Given the description of an element on the screen output the (x, y) to click on. 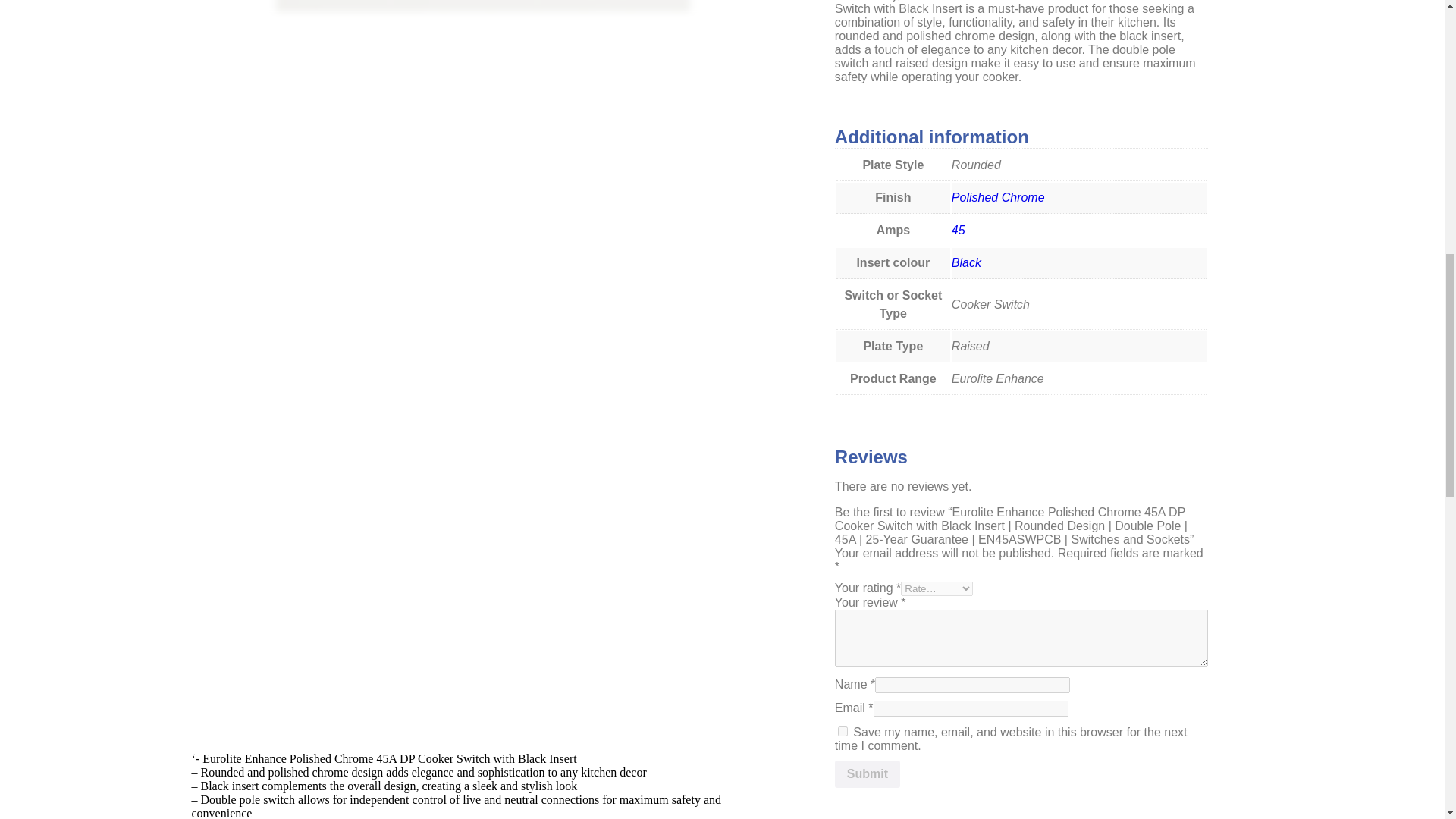
45 (958, 229)
Submit (866, 773)
yes (842, 731)
Polished Chrome (998, 196)
Black (966, 262)
Submit (866, 773)
